Given the description of an element on the screen output the (x, y) to click on. 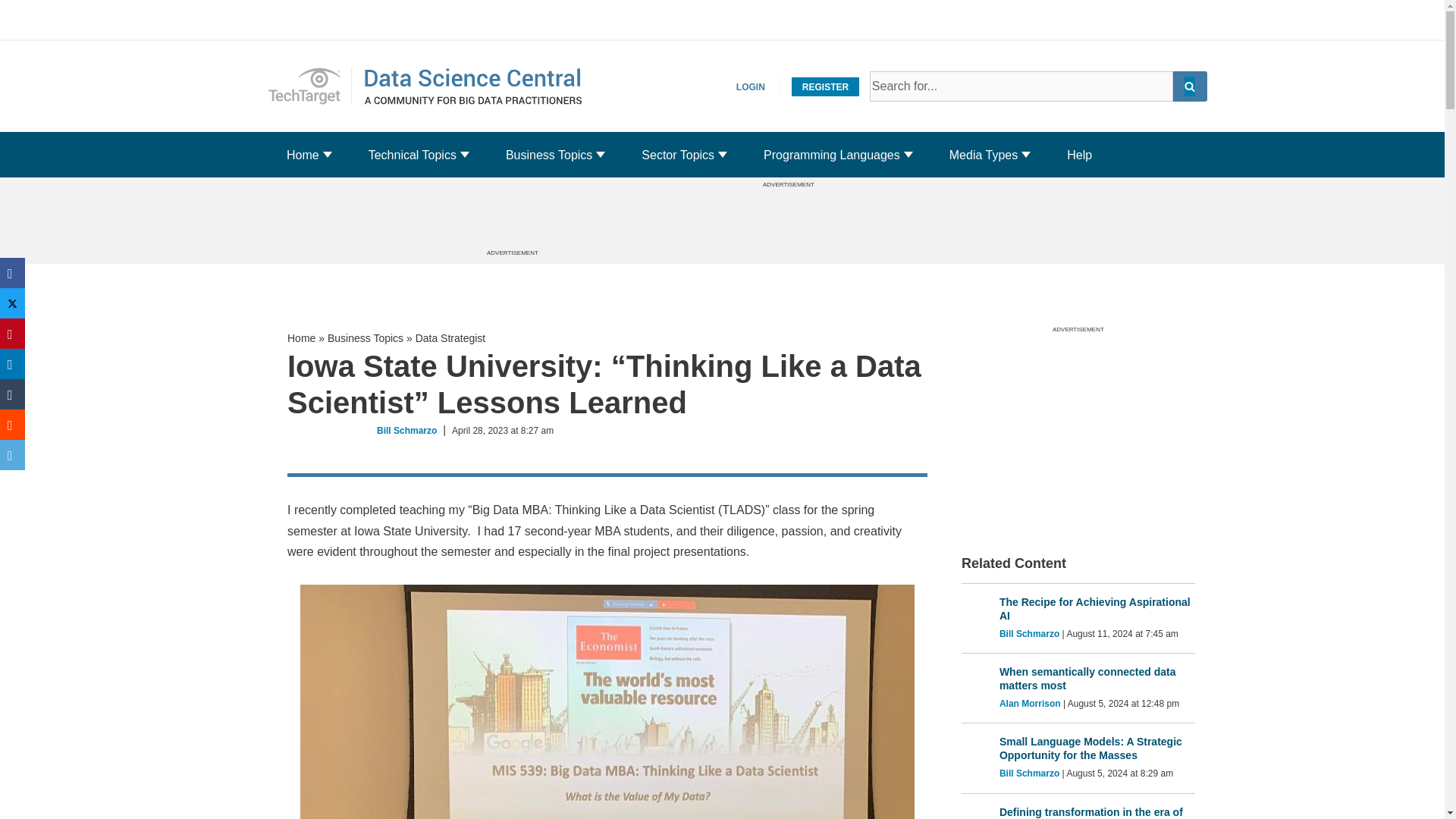
LOGIN (750, 86)
3rd party ad content (788, 222)
The Recipe for Achieving Aspirational AI (1096, 608)
Skip to content (309, 86)
Technical Topics (11, 31)
When semantically connected data matters most (412, 154)
Posts by Bill Schmarzo (1096, 678)
Home (406, 430)
